Given the description of an element on the screen output the (x, y) to click on. 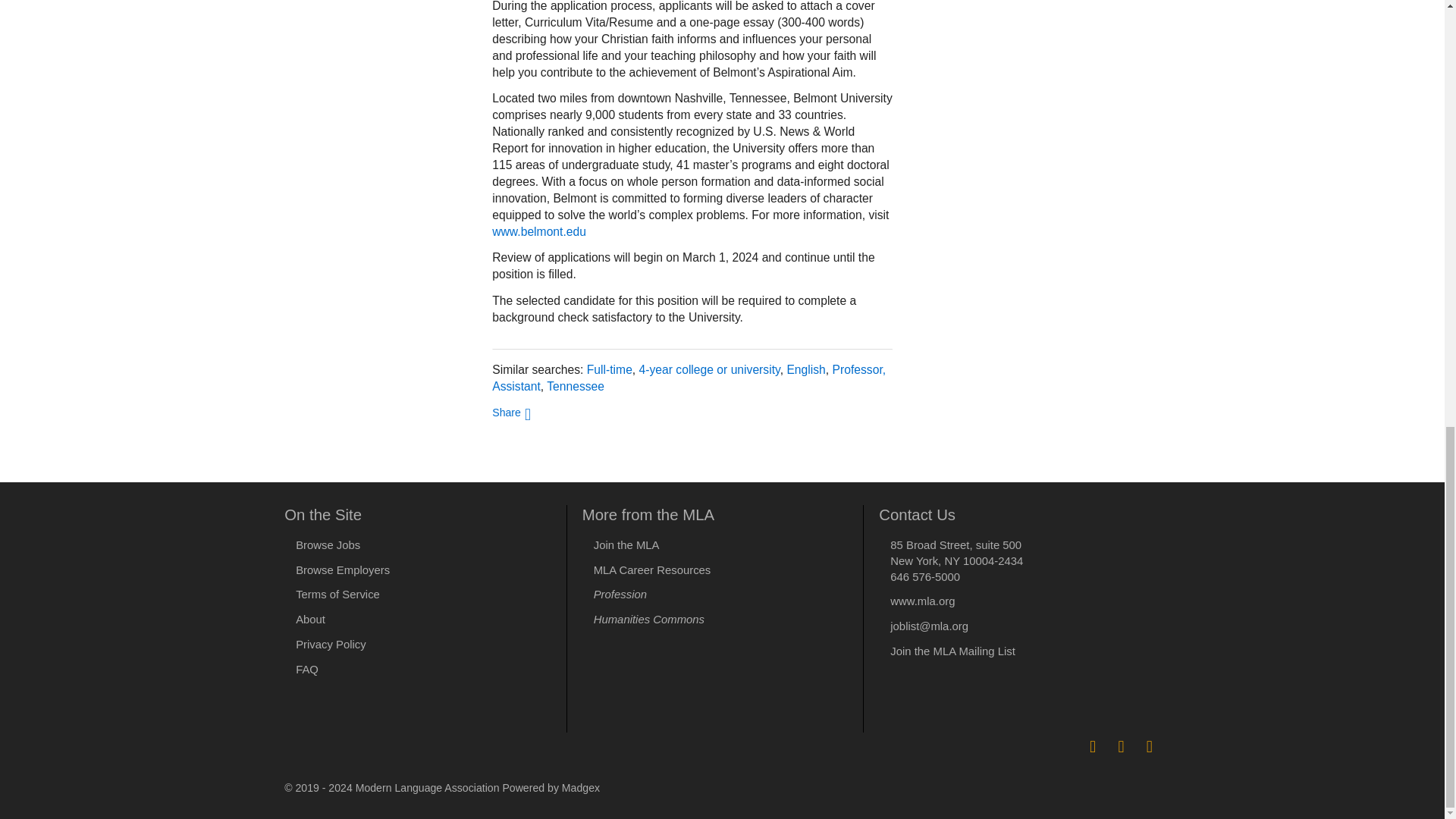
Tennessee (575, 386)
English (805, 369)
Professor, Assistant (688, 378)
www.belmont.edu (539, 231)
Share (511, 411)
Browse Employers (342, 570)
Full-time (608, 369)
Browse Jobs (327, 544)
4-year college or university (709, 369)
